Given the description of an element on the screen output the (x, y) to click on. 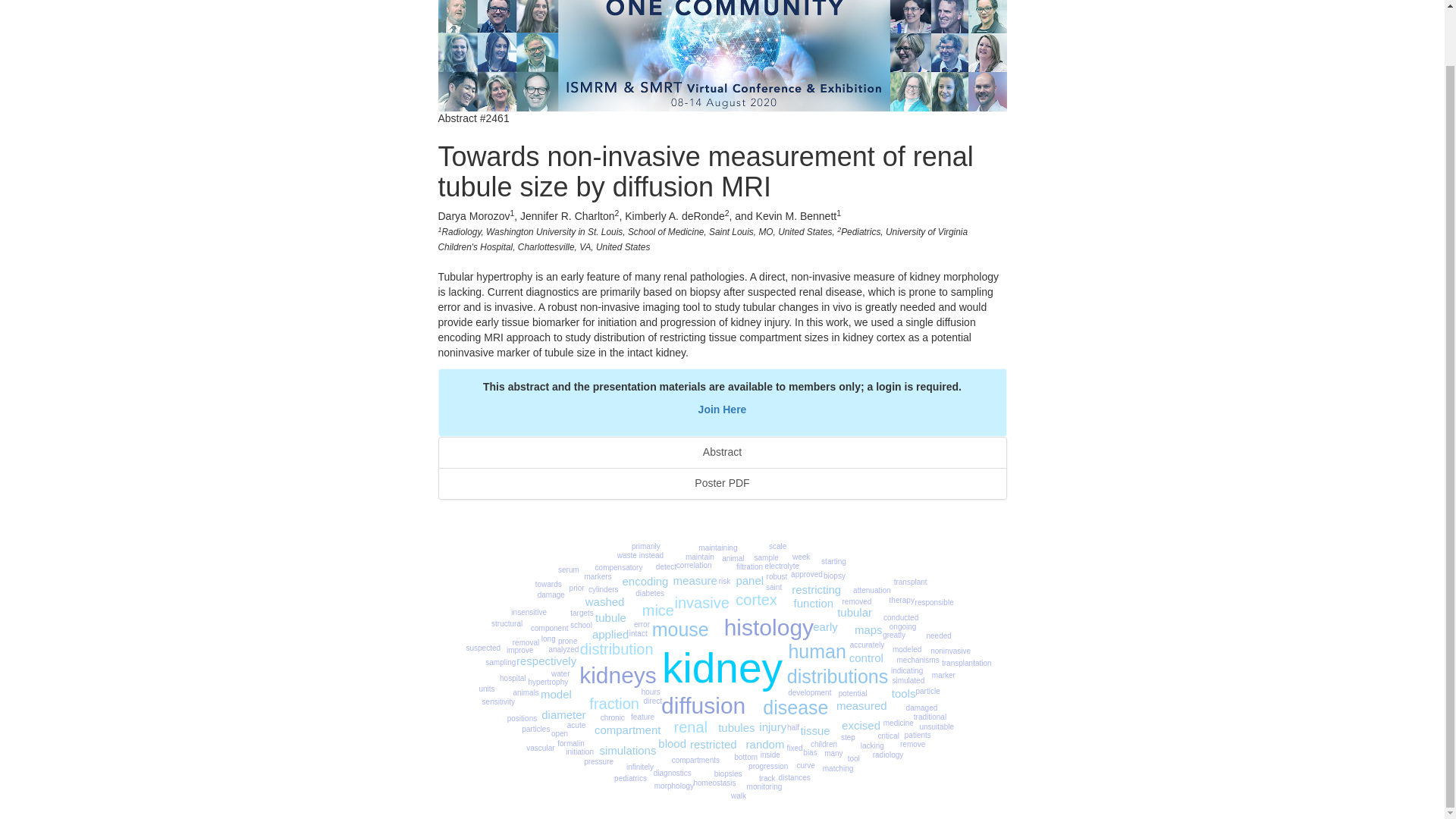
Join Here (722, 409)
Poster PDF (722, 483)
Abstract (722, 452)
